Given the description of an element on the screen output the (x, y) to click on. 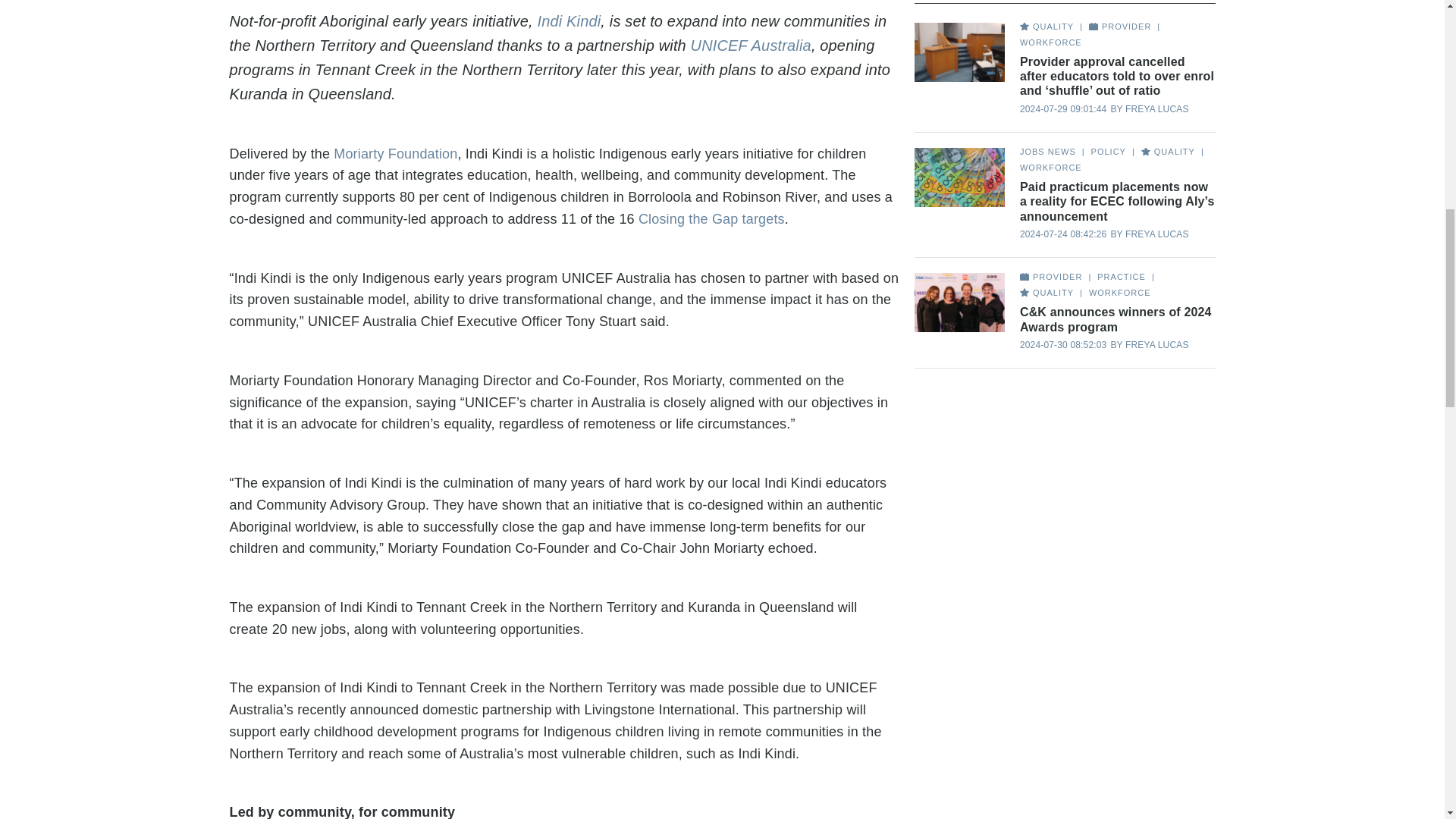
Indi Kindi (568, 21)
Moriarty Foundation (395, 153)
Closing the Gap targets (711, 218)
UNICEF Australia (750, 45)
